Given the description of an element on the screen output the (x, y) to click on. 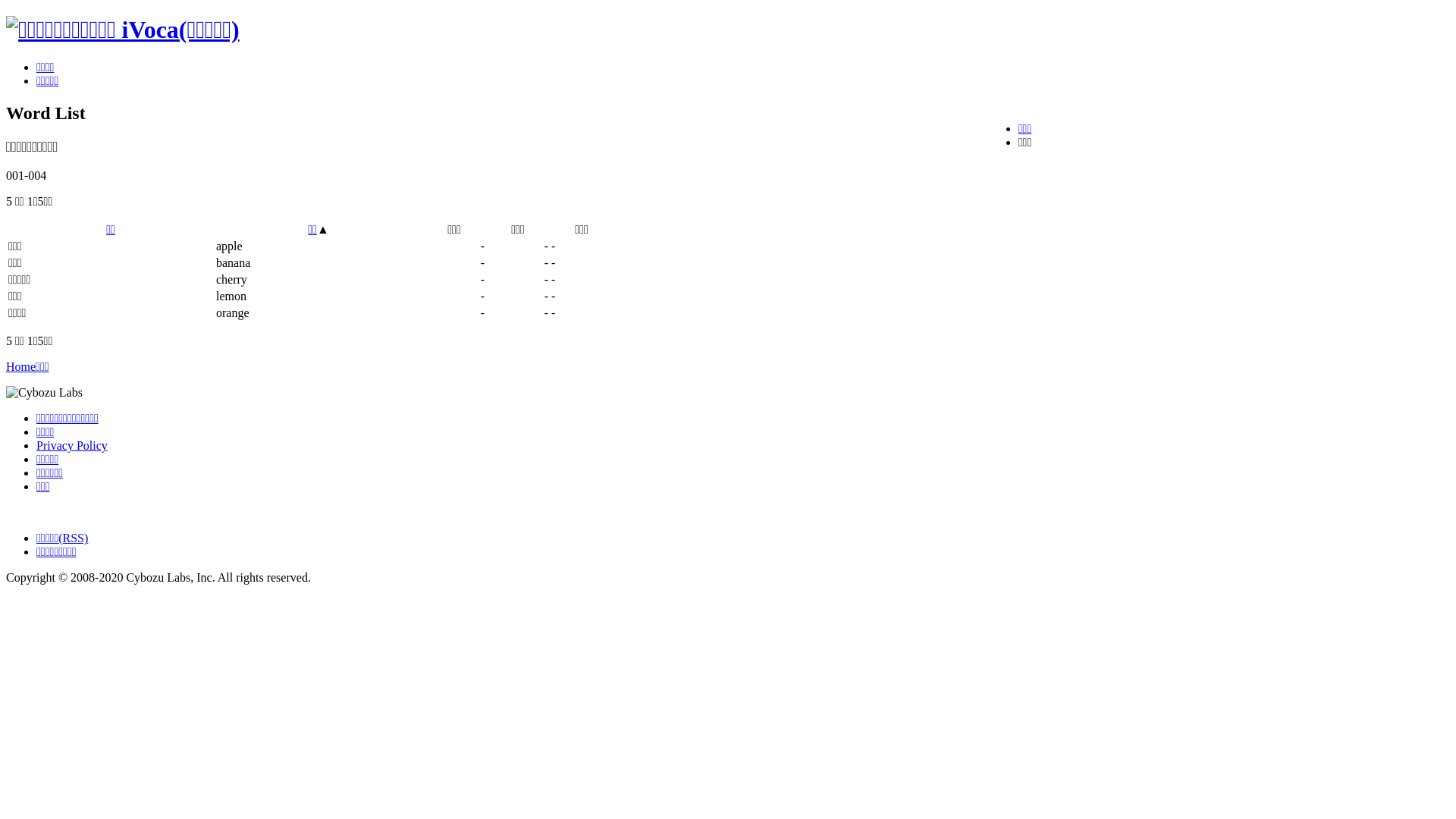
Privacy Policy Element type: text (71, 445)
